Given the description of an element on the screen output the (x, y) to click on. 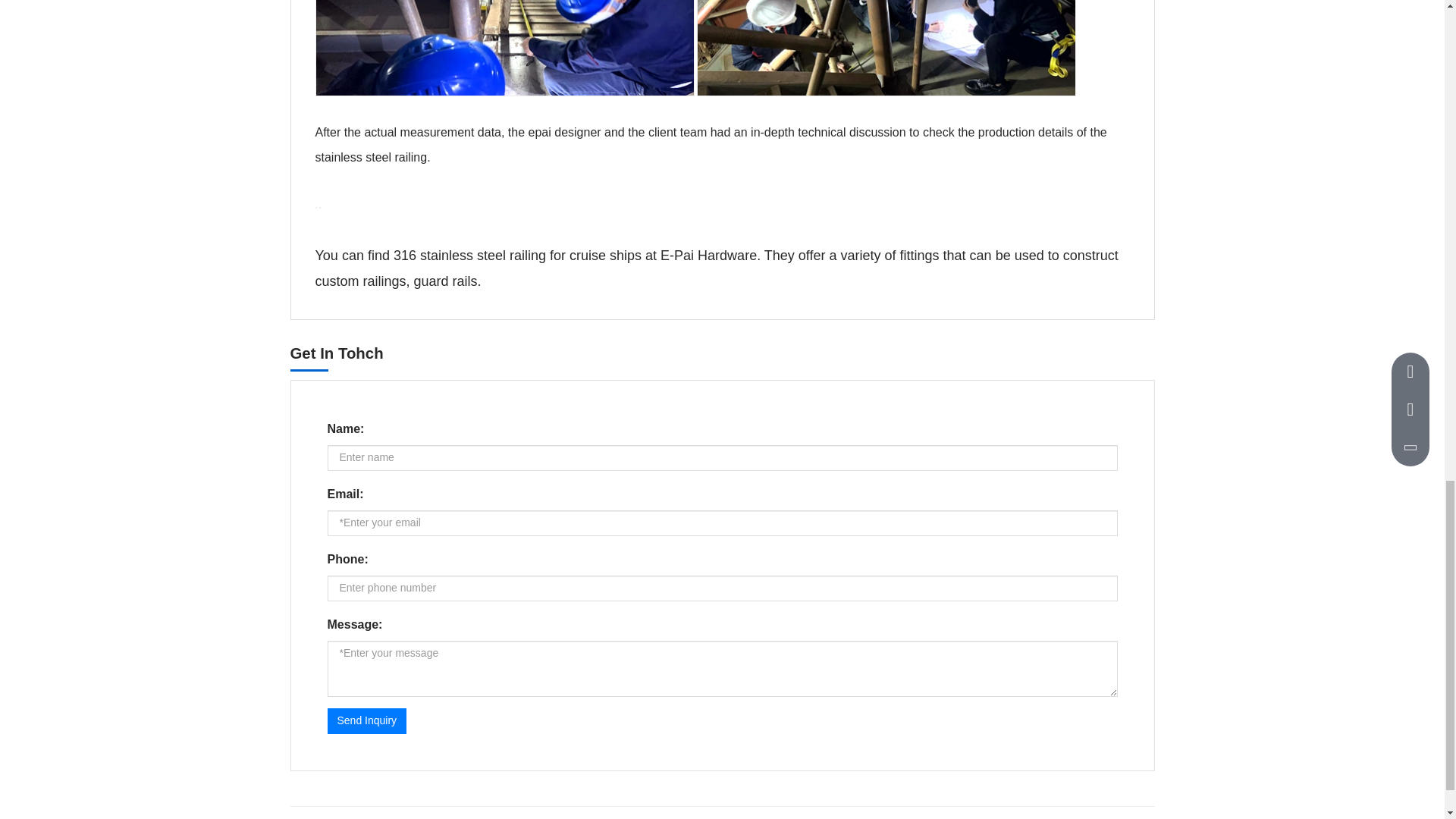
Send Inquiry (367, 720)
